Given the description of an element on the screen output the (x, y) to click on. 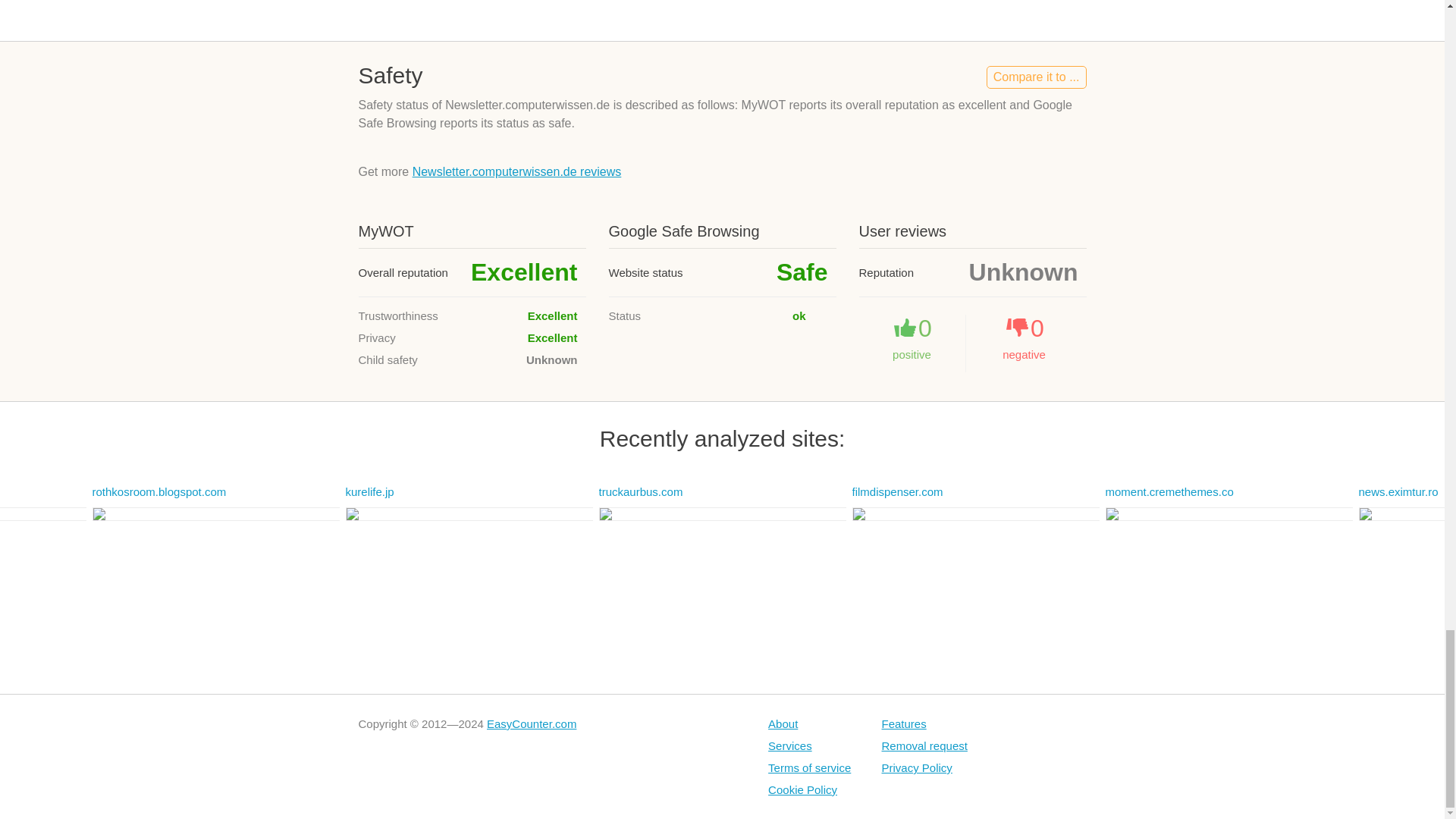
Compare it to ... (1036, 77)
